Given the description of an element on the screen output the (x, y) to click on. 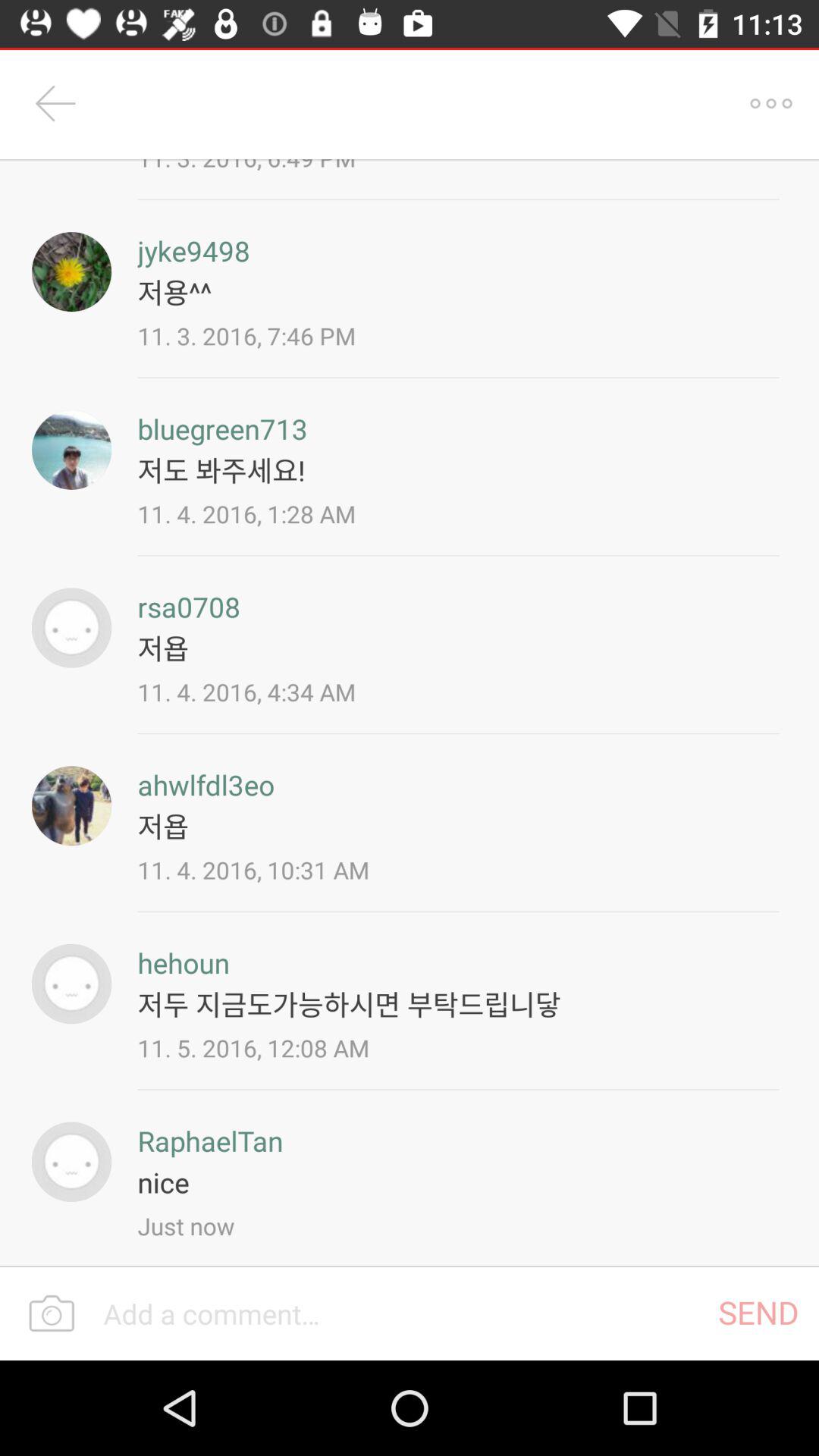
see profile (71, 271)
